Given the description of an element on the screen output the (x, y) to click on. 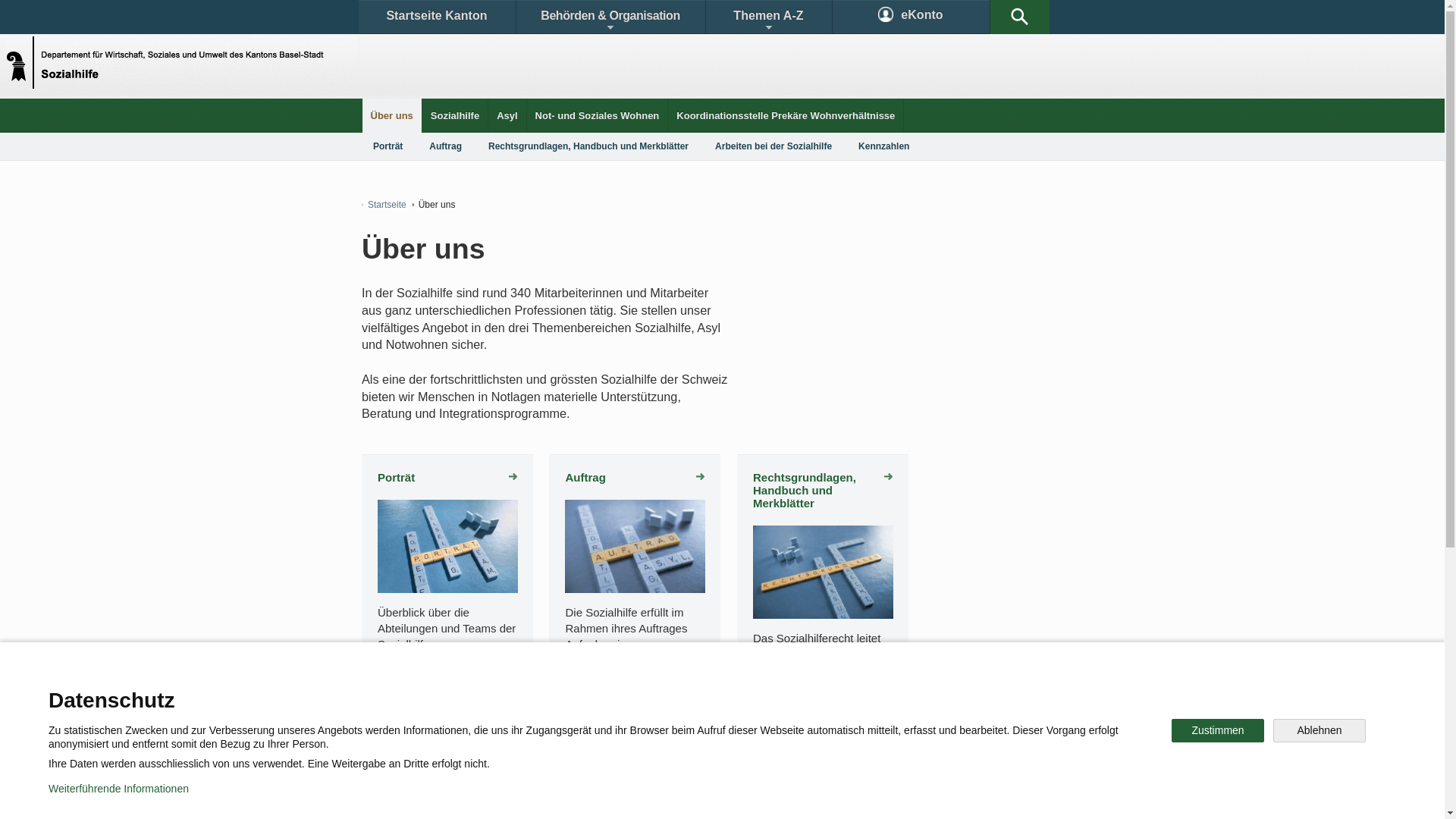
Startseite Kanton Element type: text (435, 17)
Publikationen Element type: text (795, 693)
Sozialhilfe Element type: text (454, 115)
Auftrag Element type: text (634, 476)
Auftrag Element type: text (445, 145)
Facebook Element type: text (547, 746)
Zustimmen Element type: text (1217, 730)
Instagram Element type: text (738, 746)
Gesetze Element type: text (597, 693)
Ablehnen Element type: text (1319, 730)
Twitter Element type: text (642, 746)
Not- und Soziales Wohnen Element type: text (597, 115)
Zur mobilen Ansicht Element type: text (752, 796)
Stadtplan & Karte Element type: text (504, 693)
Kennzahlen Element type: text (634, 765)
Bild & Multimedia Element type: text (908, 693)
Arbeiten bei der Sozialhilfe Element type: text (773, 145)
Impressum Element type: text (648, 796)
Kontakt Element type: text (406, 693)
Nutzungsregelungen Element type: text (542, 796)
Themen A-Z Element type: text (768, 17)
Kennzahlen Element type: text (883, 145)
Startseite Element type: text (383, 204)
eKonto Element type: text (910, 17)
Statistiken Element type: text (687, 693)
Arbeiten bei der Sozialhilfe Element type: text (447, 771)
Asyl Element type: text (506, 115)
